Given the description of an element on the screen output the (x, y) to click on. 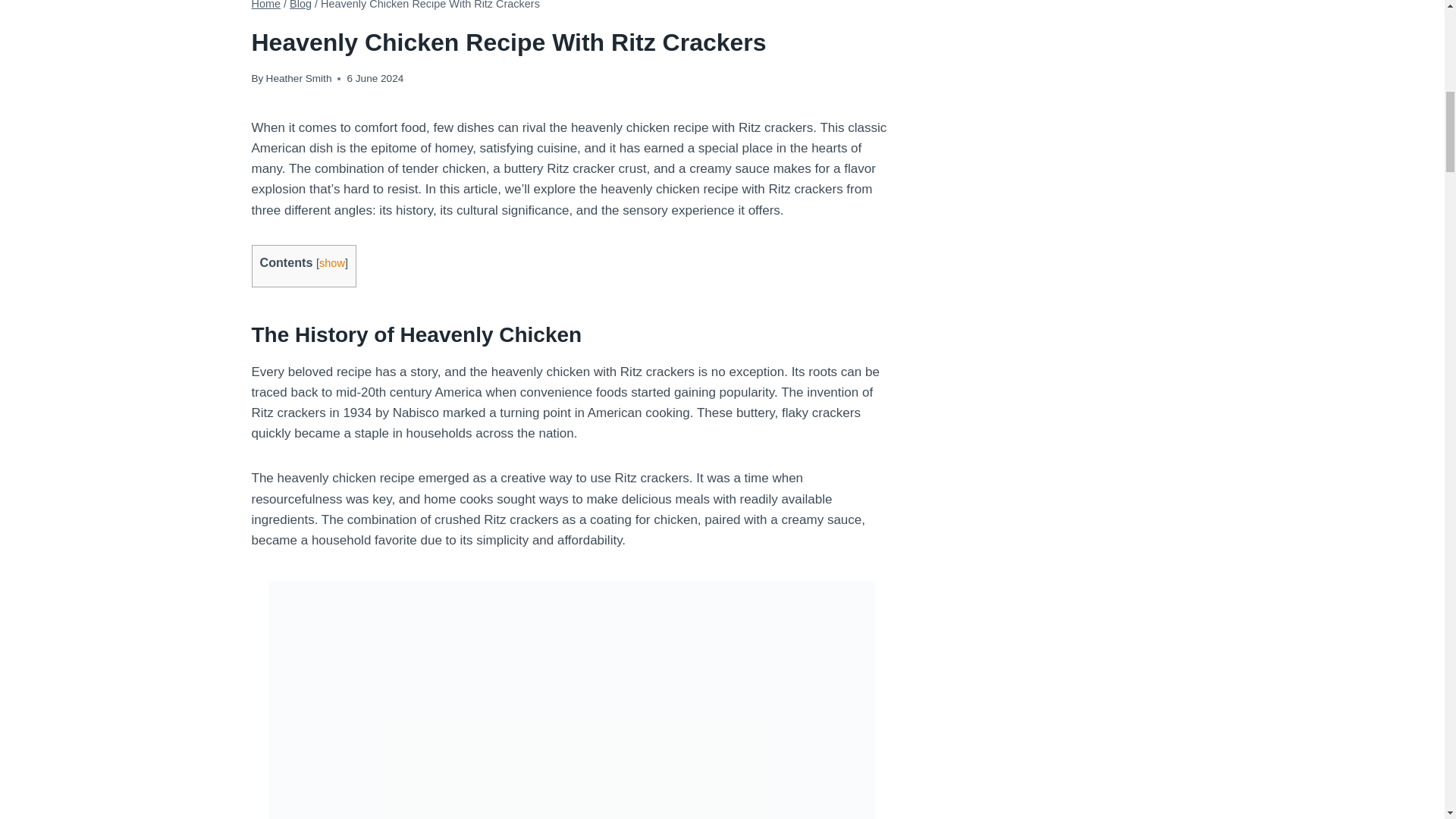
Heavenly Chicken Recipe With Ritz Crackers 1 (571, 25)
Blog (300, 4)
Home (266, 4)
Heather Smith (298, 78)
show (331, 263)
